Given the description of an element on the screen output the (x, y) to click on. 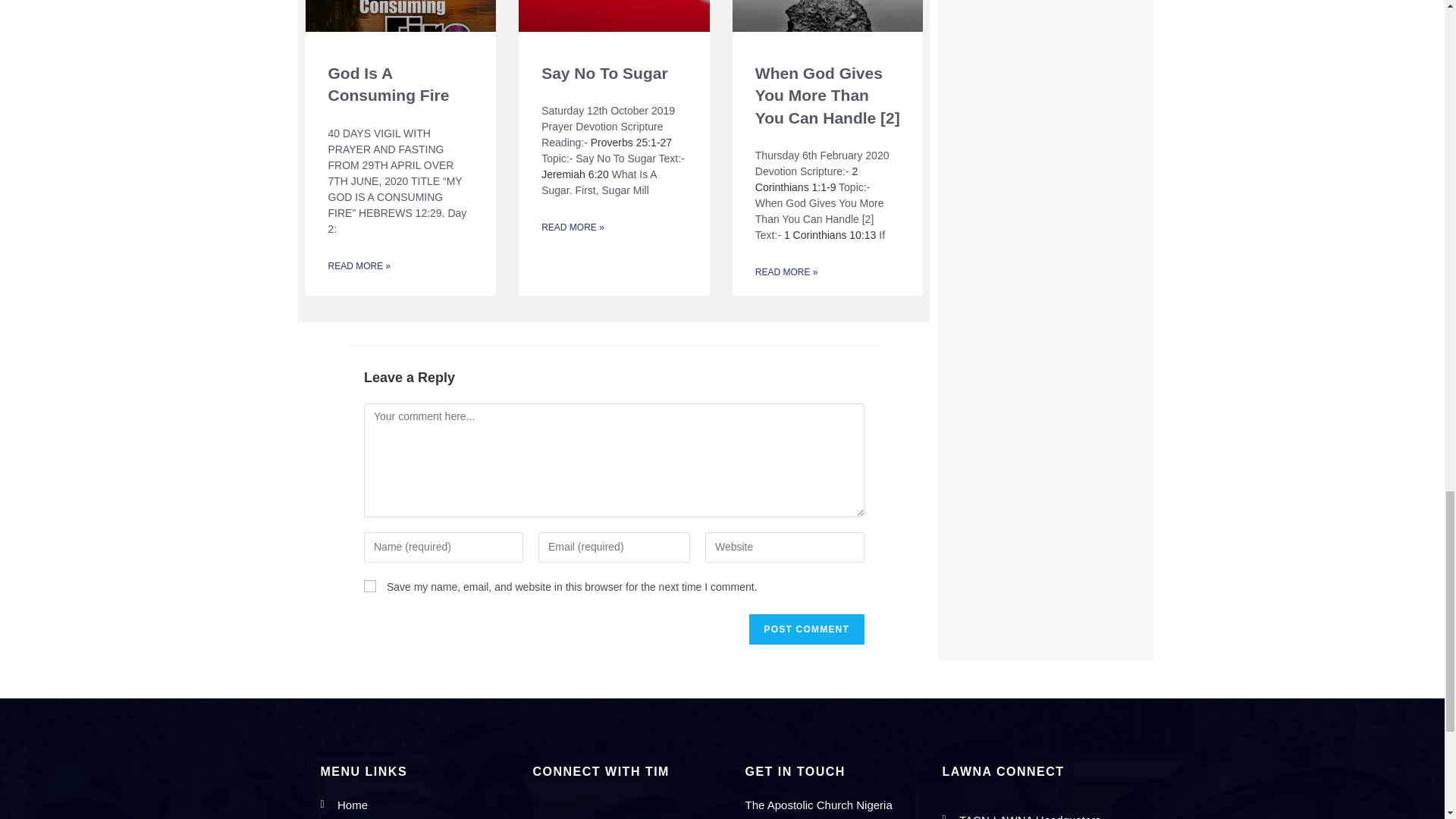
1 Corinthians 10:13 (830, 234)
Jeremiah 6:20 (574, 174)
2 Corinthians 1:1-9 (806, 179)
Say No To Sugar (603, 72)
Post Comment (806, 629)
Proverbs 25:1-27 (631, 142)
God Is A Consuming Fire (387, 84)
yes (369, 585)
